Given the description of an element on the screen output the (x, y) to click on. 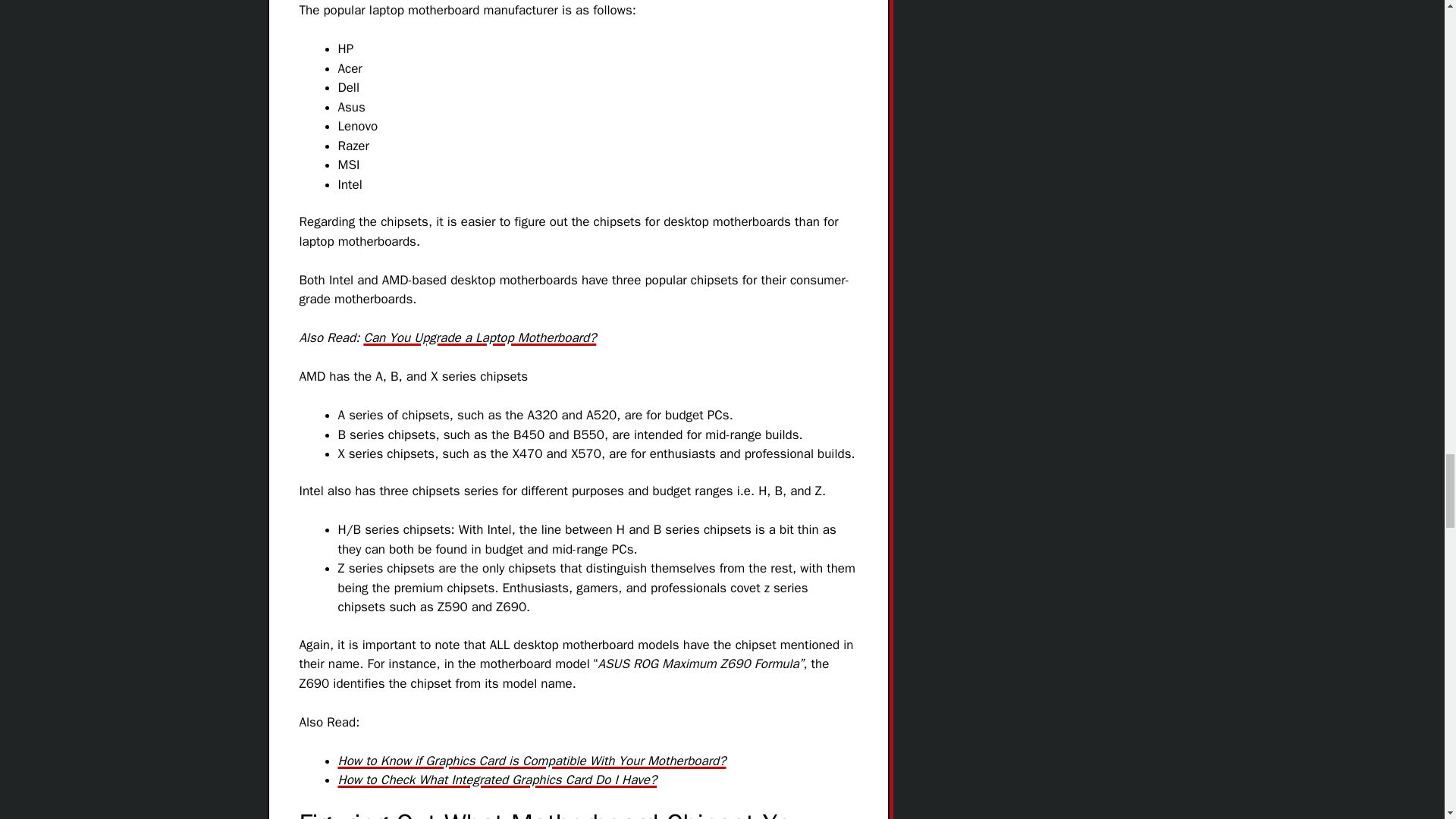
How to Check What Integrated Graphics Card Do I Have? (497, 779)
Can You Upgrade a Laptop Motherboard? (478, 337)
